Given the description of an element on the screen output the (x, y) to click on. 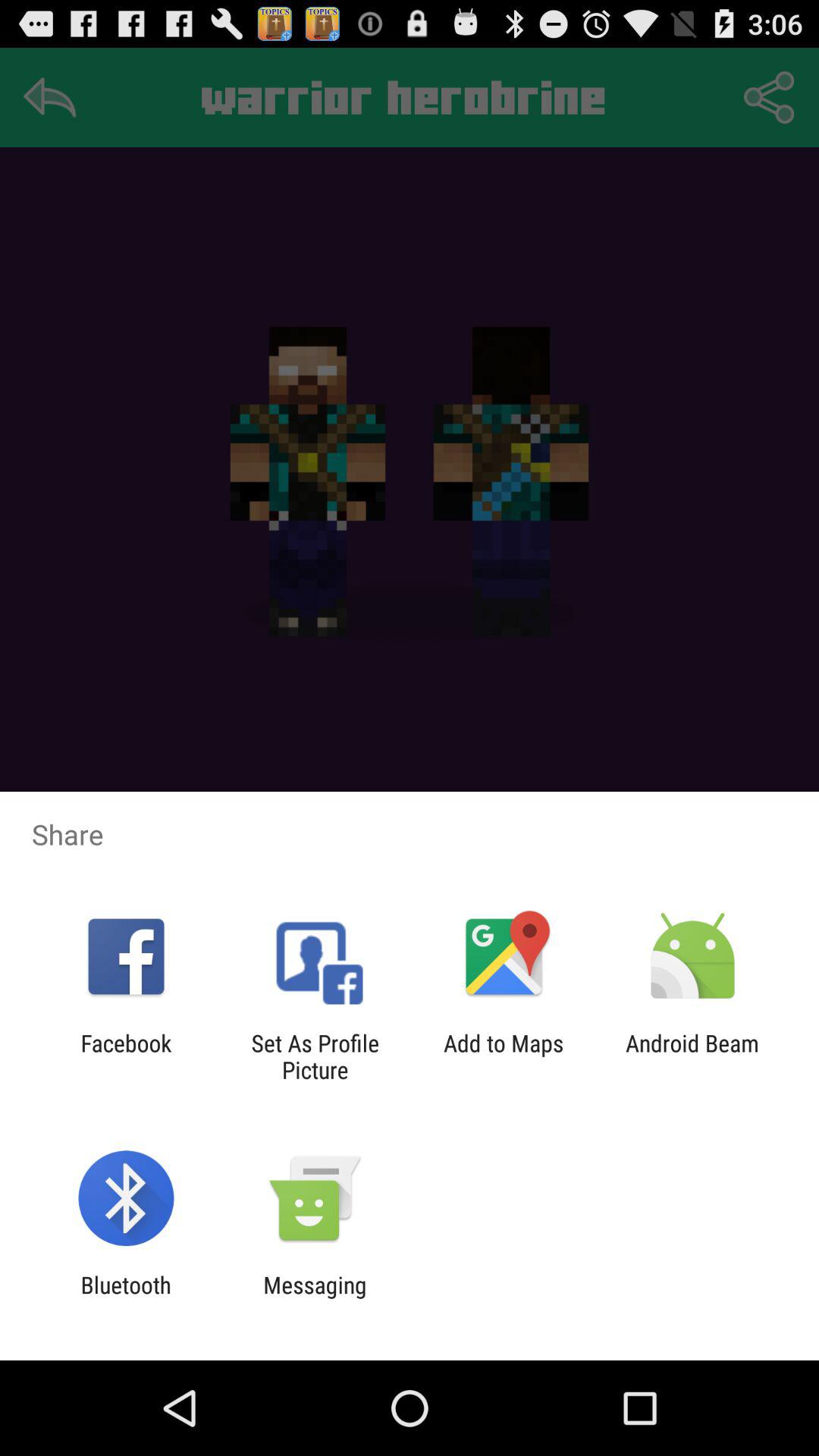
swipe to set as profile (314, 1056)
